Given the description of an element on the screen output the (x, y) to click on. 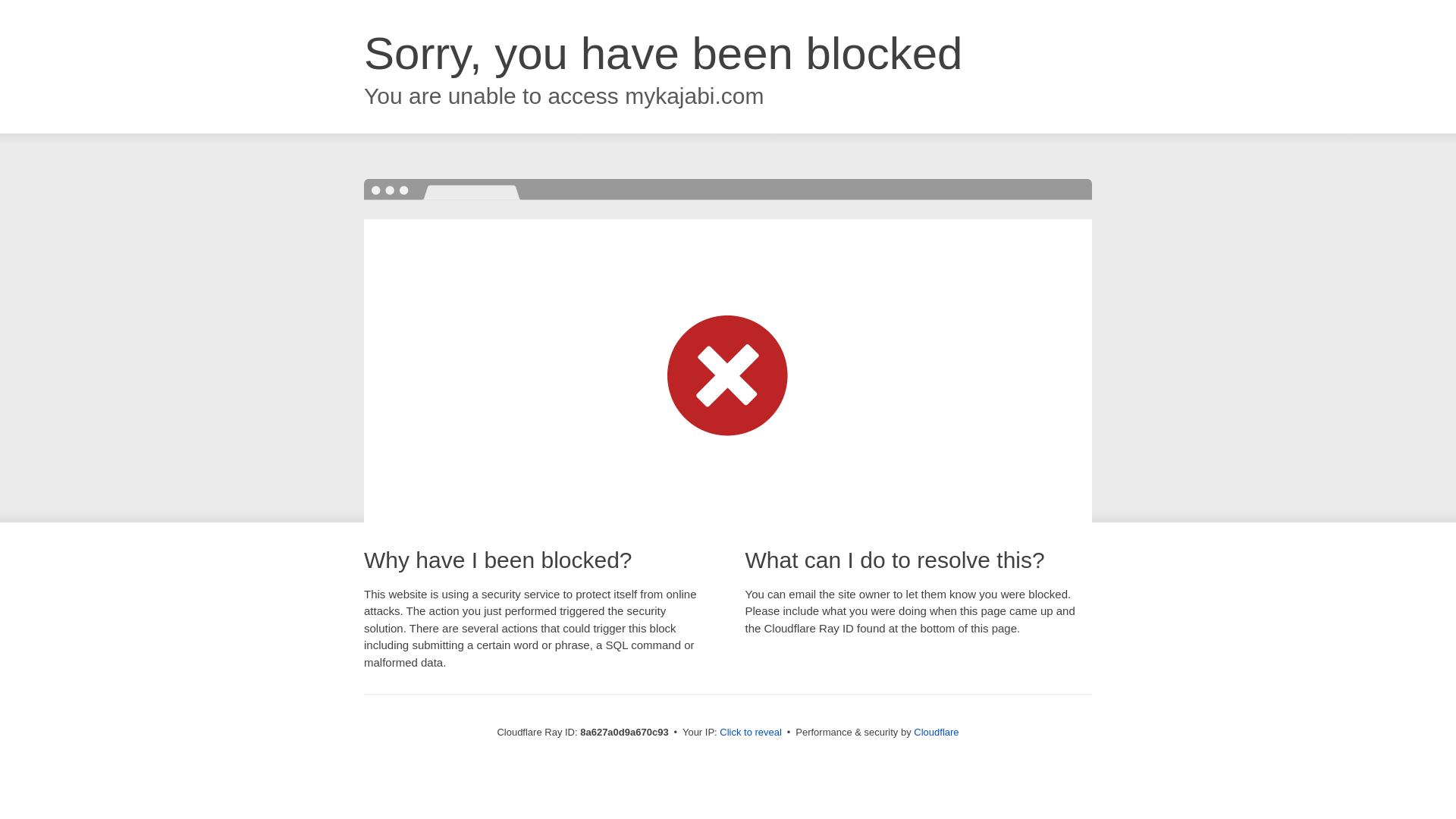
Click to reveal (750, 732)
Cloudflare (936, 731)
